Given the description of an element on the screen output the (x, y) to click on. 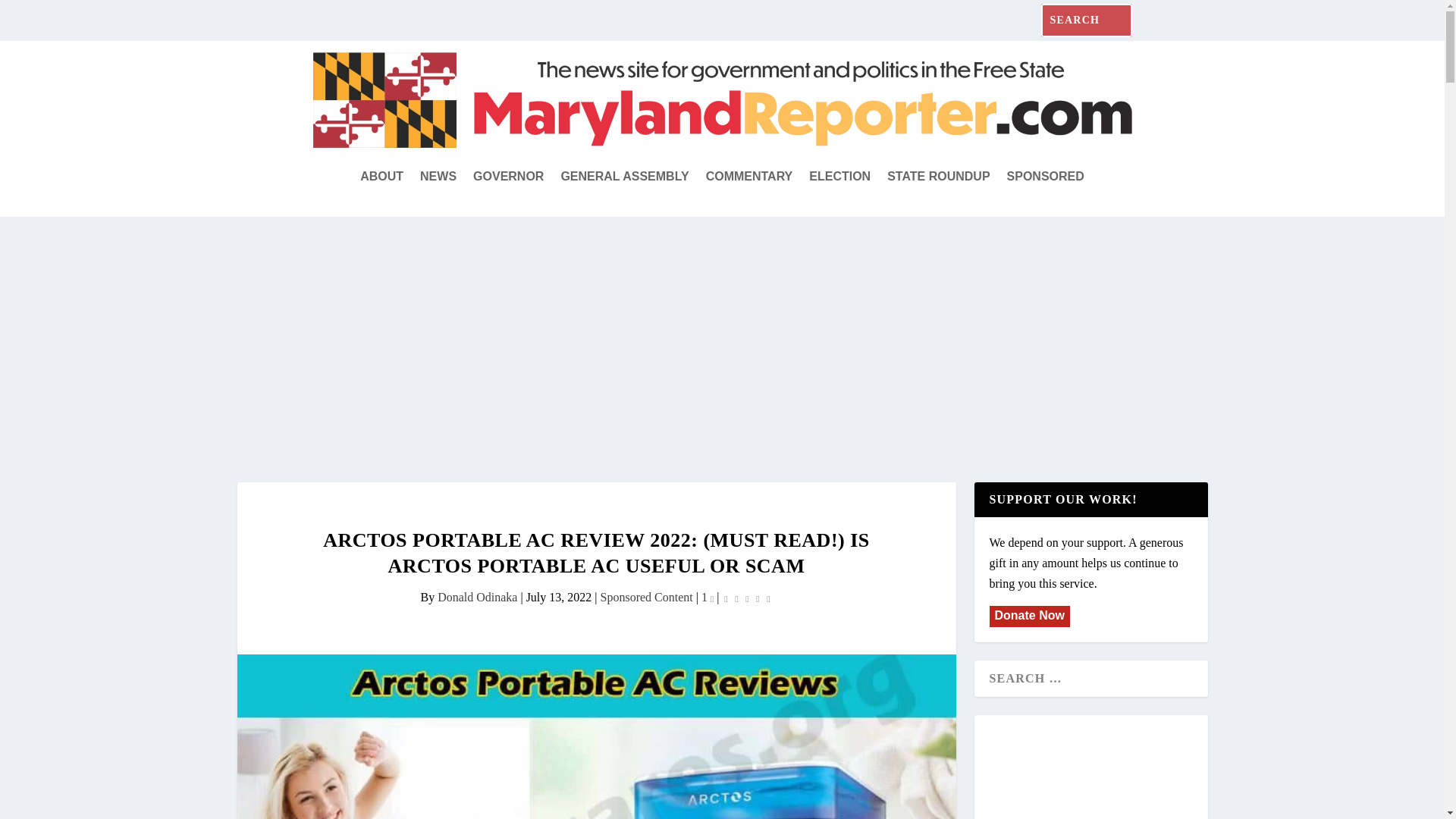
SPONSORED (1045, 176)
Sponsored Content (646, 596)
Search (29, 16)
ELECTION (839, 176)
COMMENTARY (749, 176)
Donald Odinaka (477, 596)
1 (707, 596)
Posts by Donald Odinaka (477, 596)
Rating: 0.00 (747, 598)
GENERAL ASSEMBLY (624, 176)
